Given the description of an element on the screen output the (x, y) to click on. 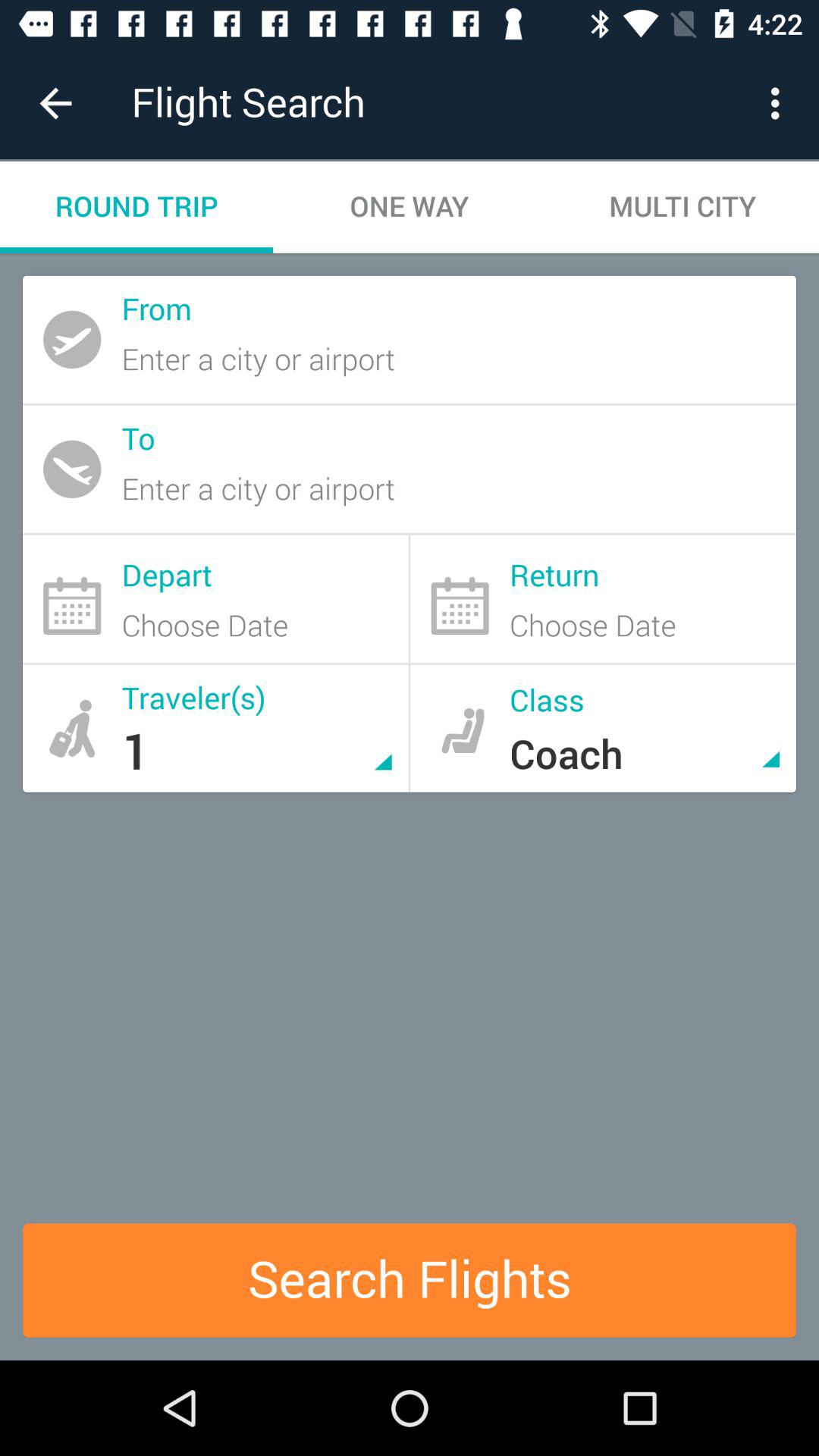
turn on item next to the one way item (682, 207)
